Given the description of an element on the screen output the (x, y) to click on. 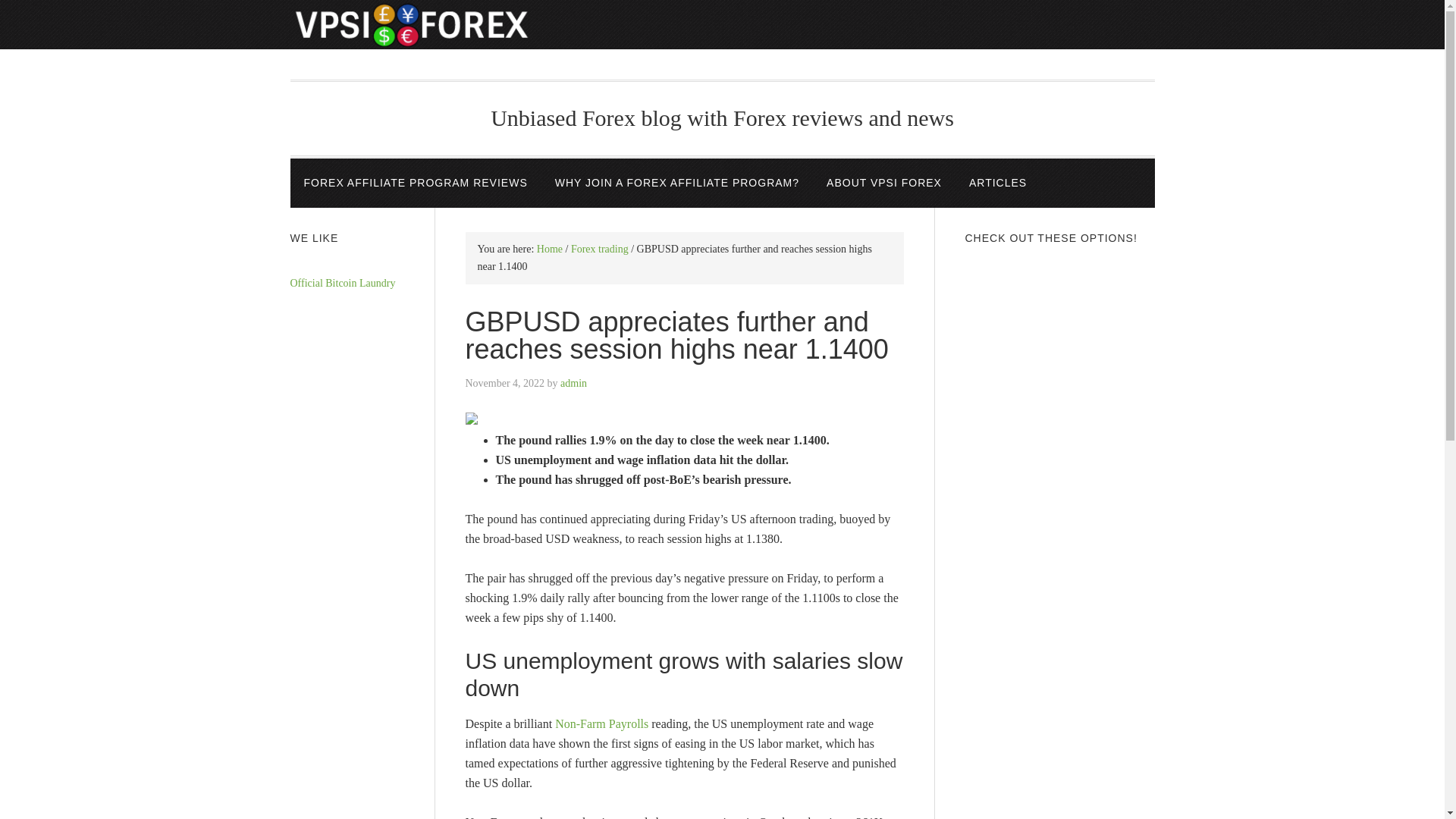
FOREX AFFILIATE PROGRAM REVIEWS (414, 183)
Forex trading (599, 248)
ABOUT VPSI FOREX (883, 183)
Home (549, 248)
Non-Farm Payrolls (600, 723)
WHY JOIN A FOREX AFFILIATE PROGRAM? (676, 183)
ARTICLES (998, 183)
Official Bitcoin Laundry (341, 283)
admin (573, 383)
